Given the description of an element on the screen output the (x, y) to click on. 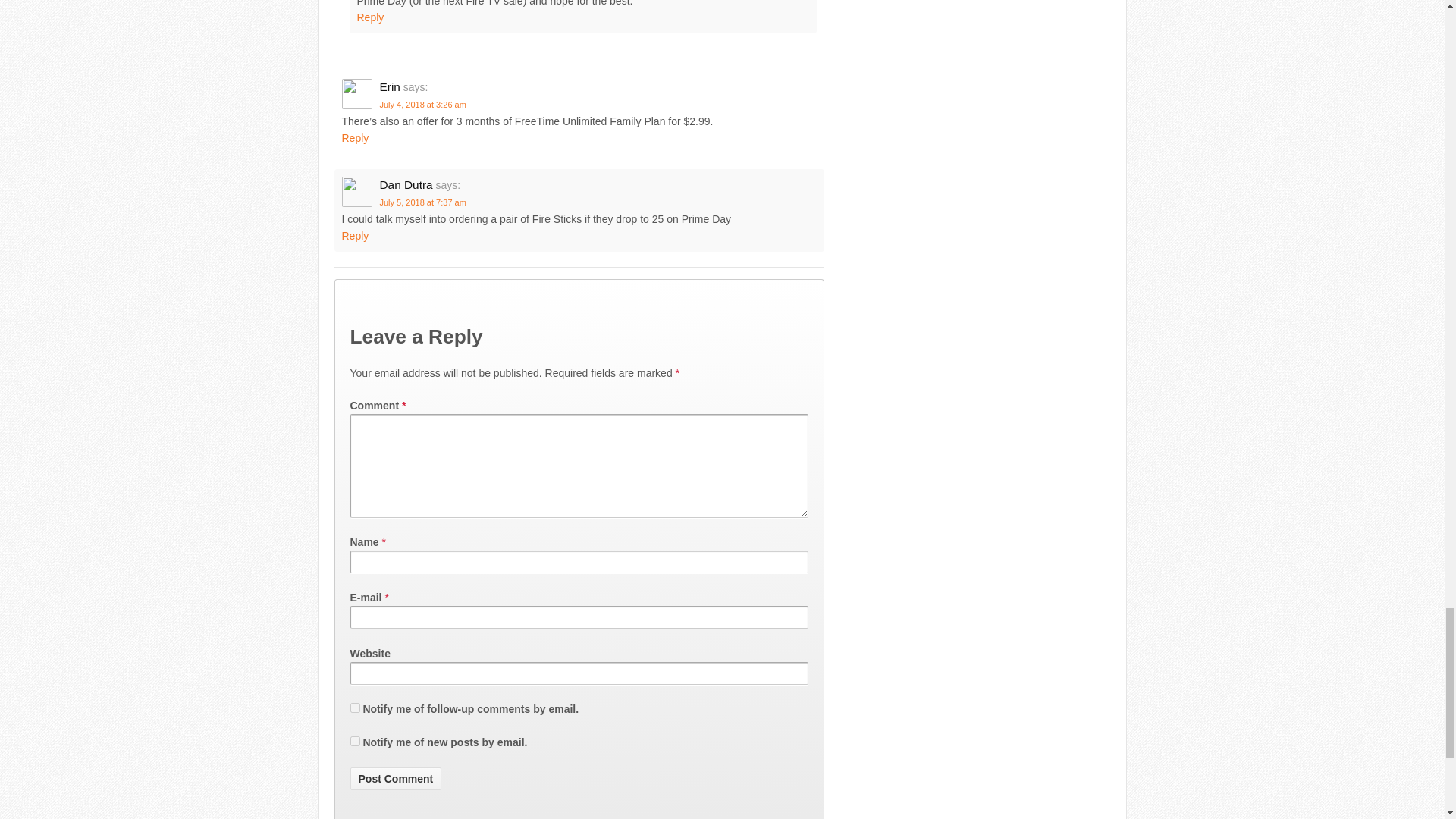
subscribe (354, 741)
subscribe (354, 707)
Post Comment (396, 778)
